Given the description of an element on the screen output the (x, y) to click on. 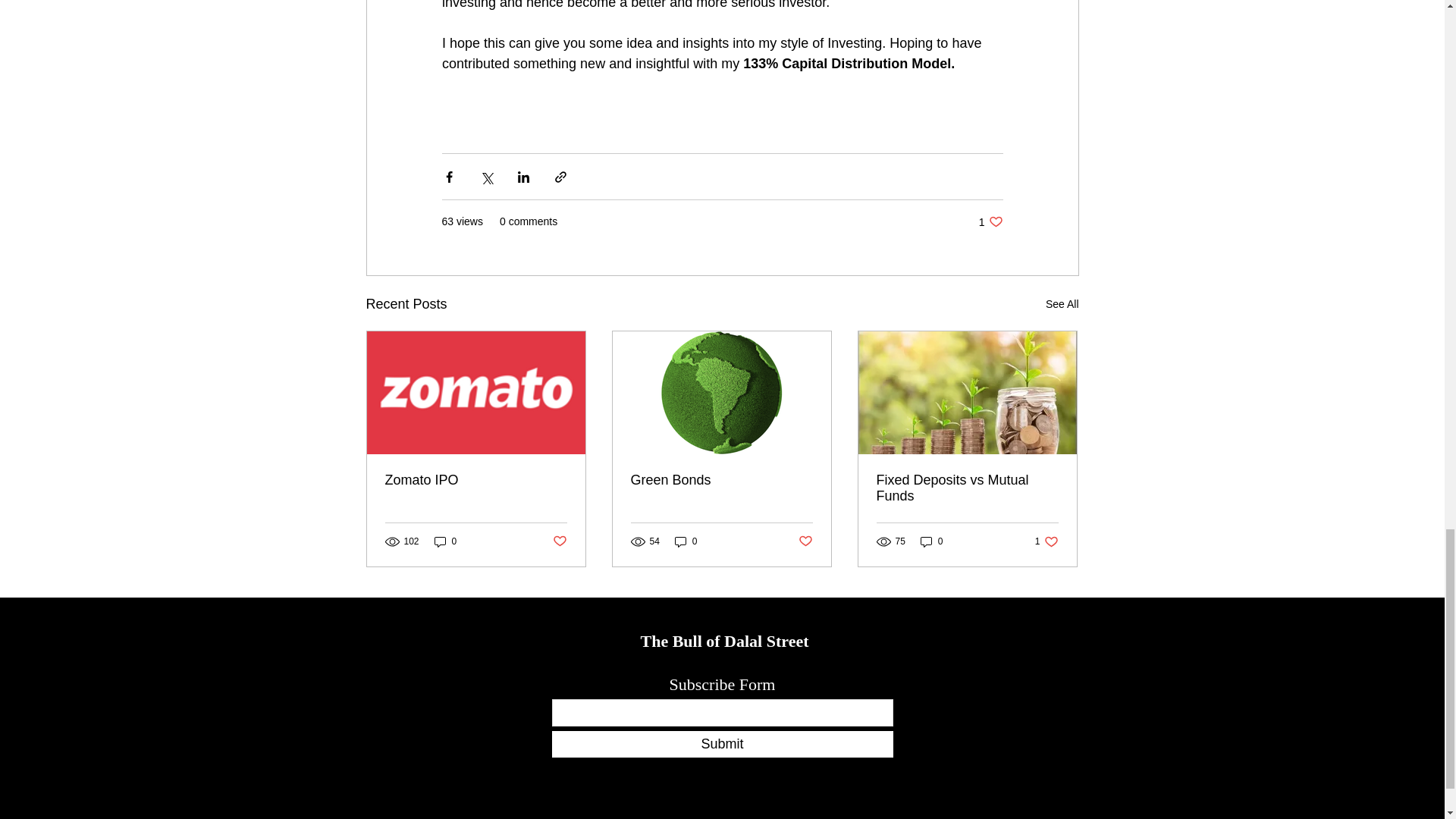
Post not marked as liked (804, 541)
Zomato IPO (476, 480)
0 (931, 540)
0 (990, 221)
0 (685, 540)
The Bull of Dalal Street (445, 540)
Post not marked as liked (724, 640)
Green Bonds (558, 541)
See All (721, 480)
